Given the description of an element on the screen output the (x, y) to click on. 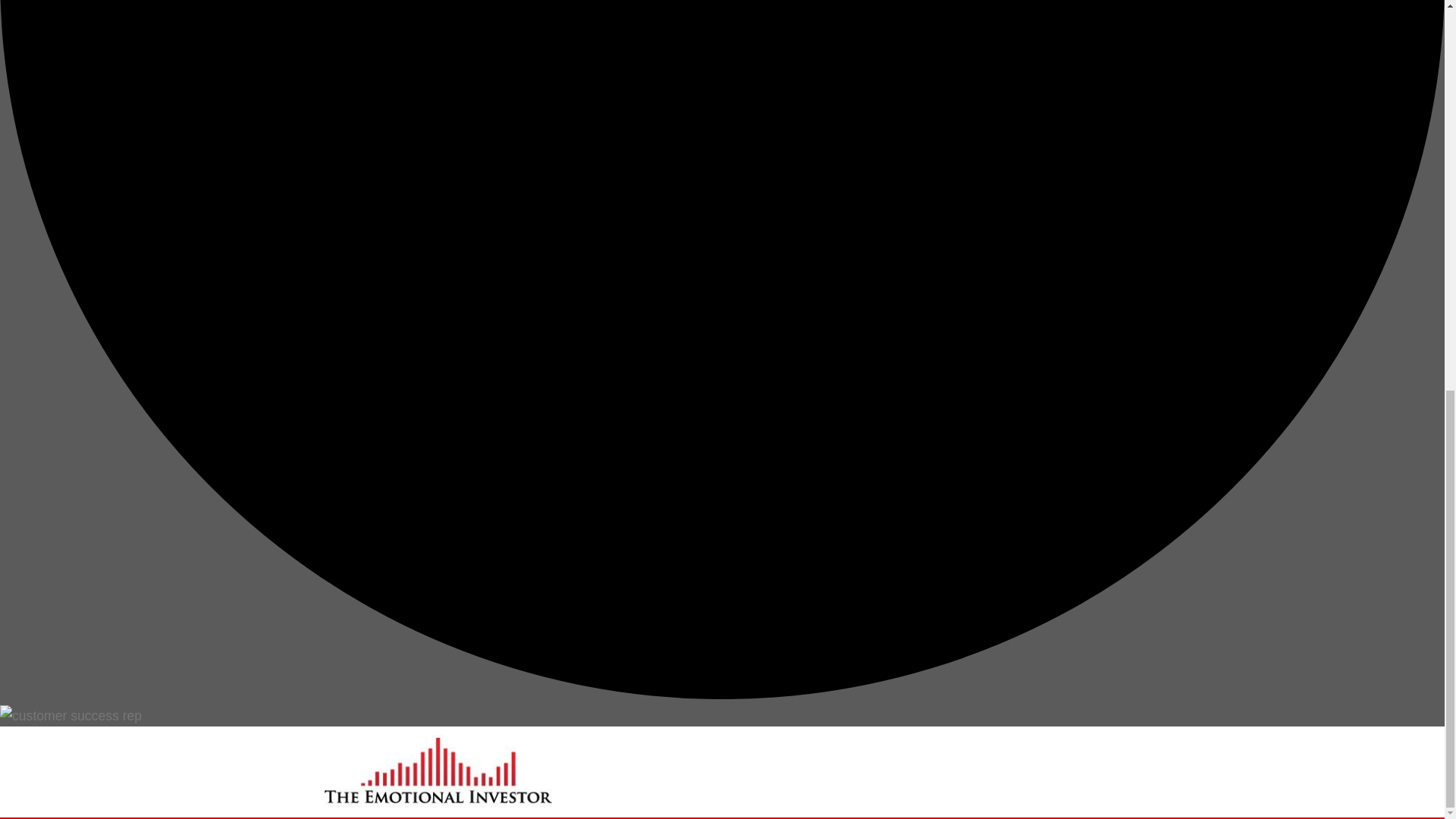
The Emotional Investor - Jay Mooreland (437, 771)
